Given the description of an element on the screen output the (x, y) to click on. 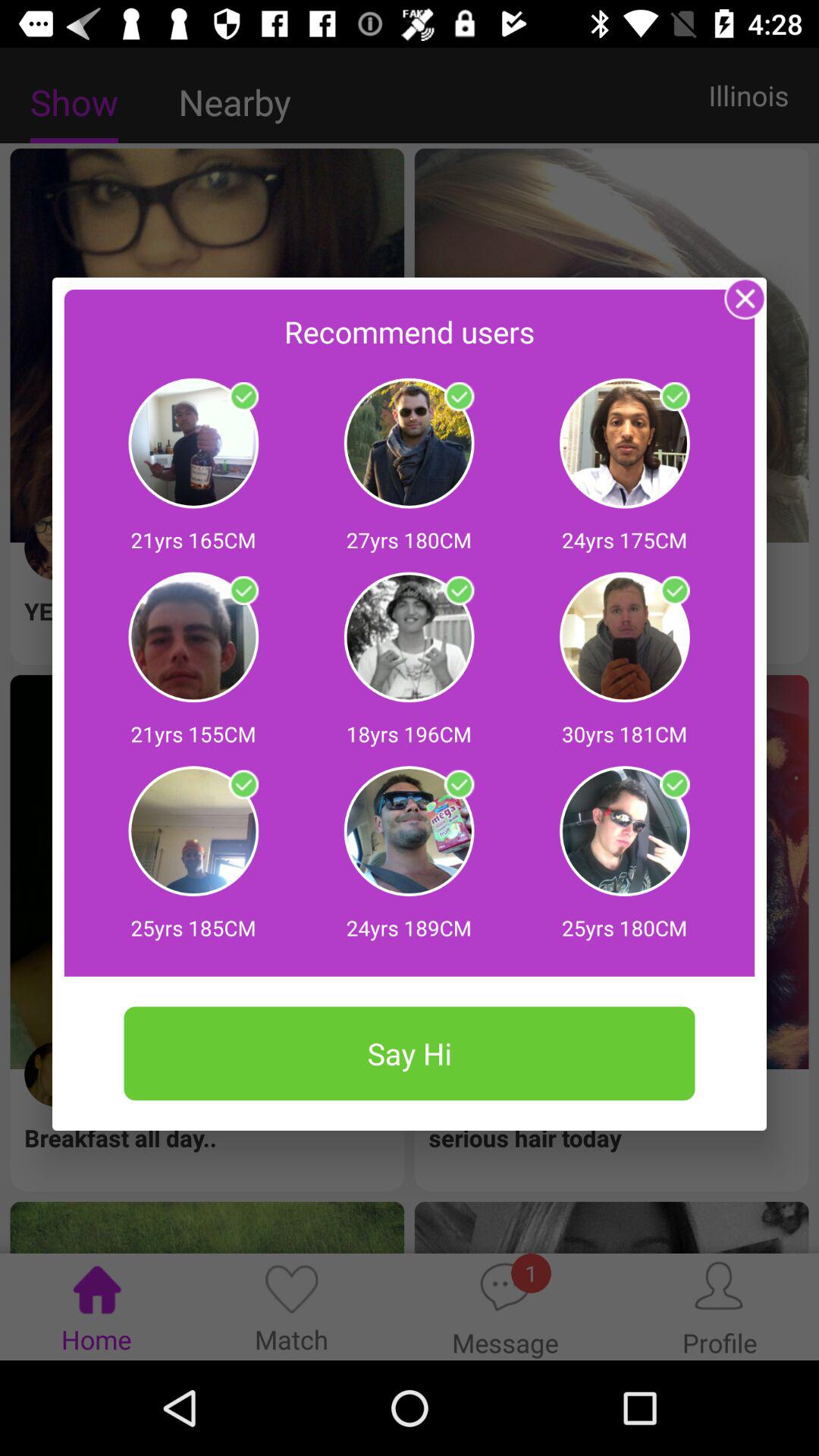
toggle on (459, 784)
